Given the description of an element on the screen output the (x, y) to click on. 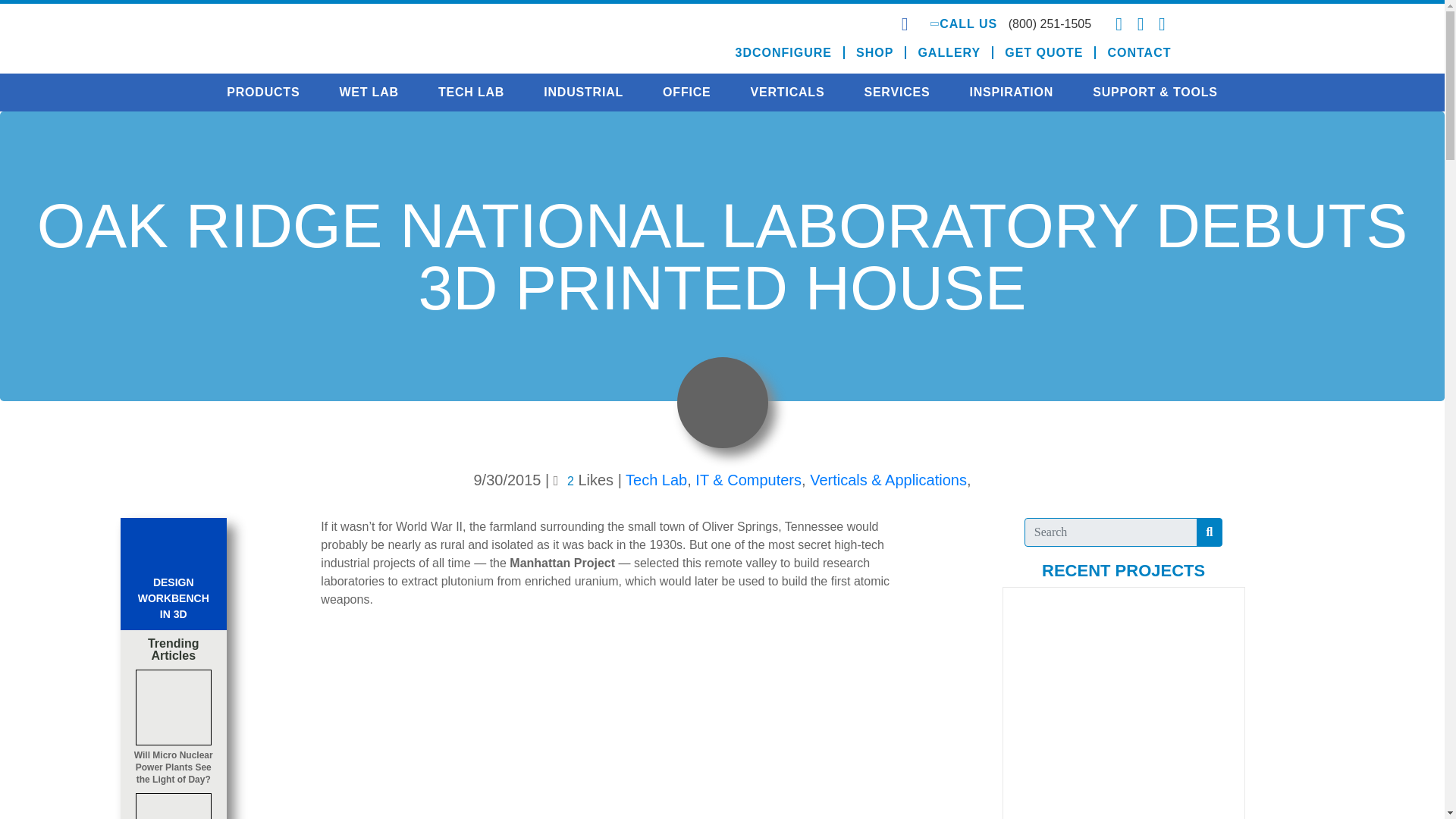
GALLERY (948, 51)
PRODUCTS (262, 92)
CONTACT (1133, 51)
SHOP (874, 51)
GET QUOTE (1044, 51)
3DCONFIGURE (783, 51)
